Given the description of an element on the screen output the (x, y) to click on. 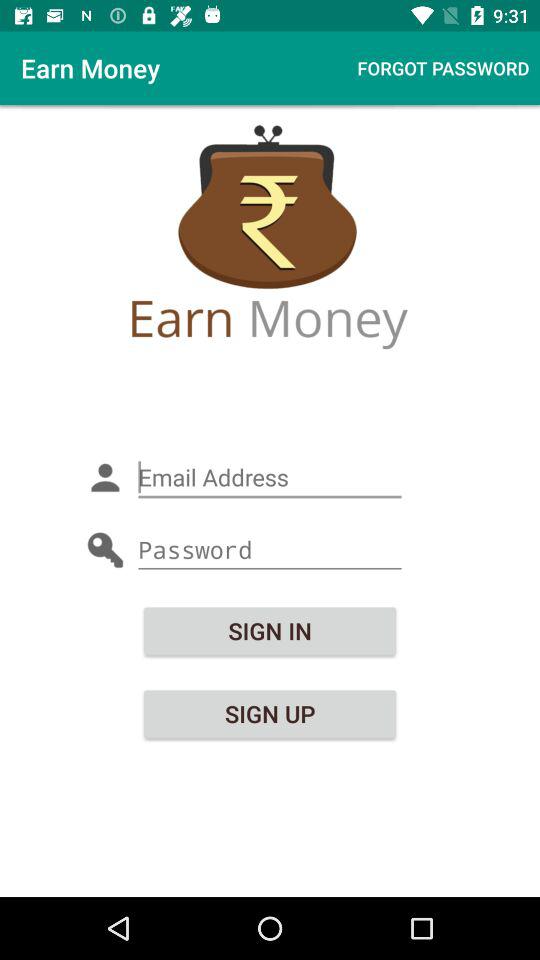
type in passcode (269, 549)
